Given the description of an element on the screen output the (x, y) to click on. 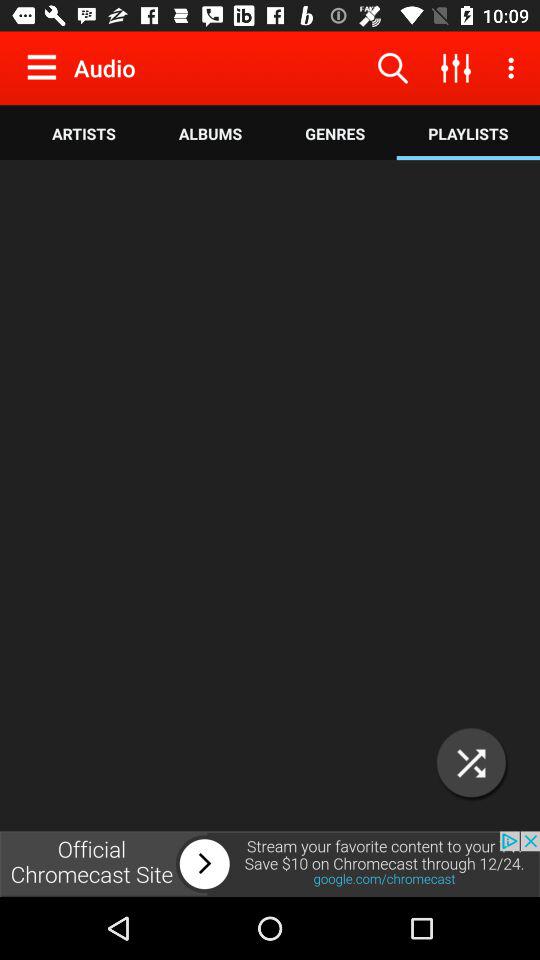
go to navigation menu (46, 67)
